Given the description of an element on the screen output the (x, y) to click on. 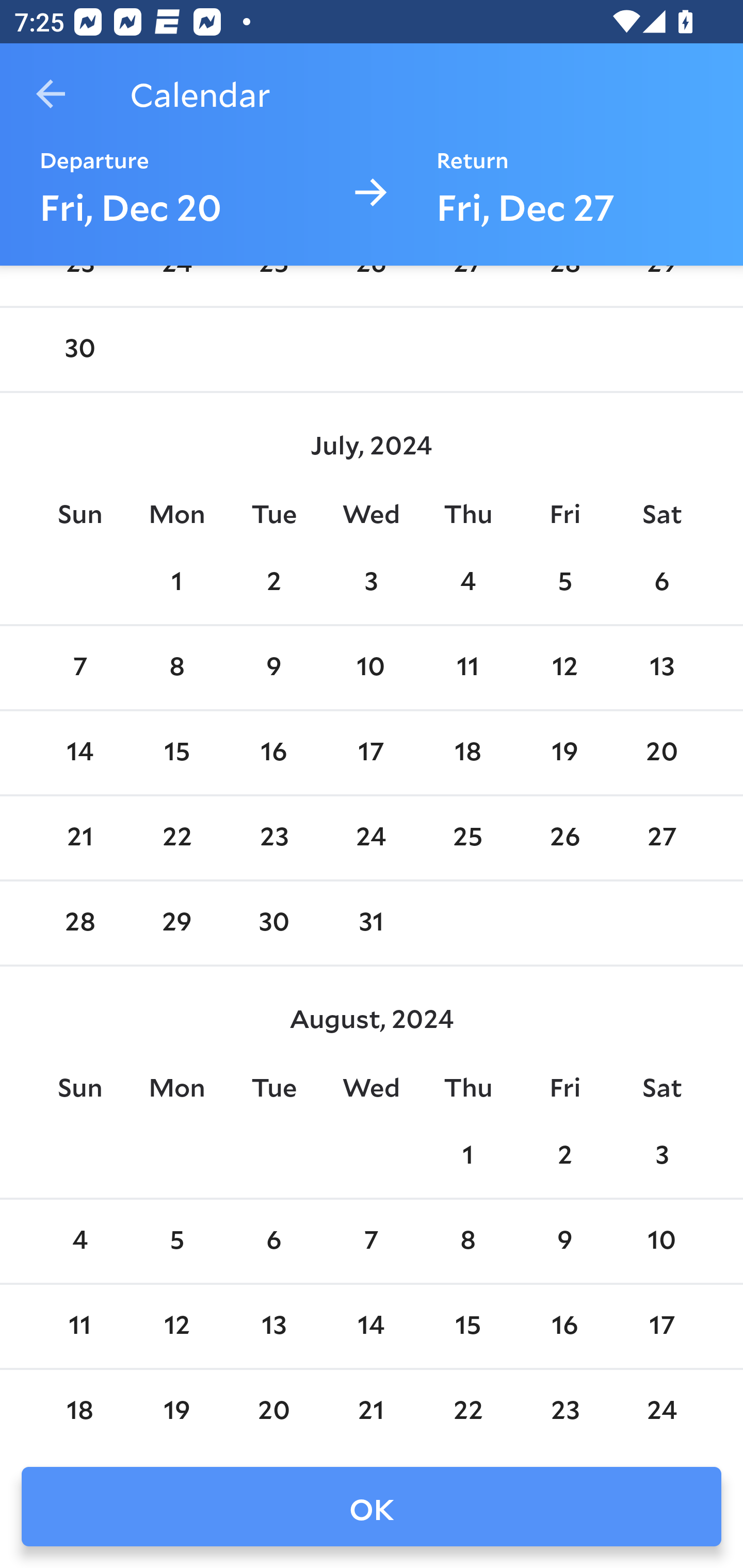
Navigate up (50, 93)
30 (79, 349)
1 (177, 583)
2 (273, 583)
3 (371, 583)
4 (467, 583)
5 (565, 583)
6 (661, 583)
7 (79, 667)
8 (177, 667)
9 (273, 667)
10 (371, 667)
11 (467, 667)
12 (565, 667)
13 (661, 667)
14 (79, 752)
15 (177, 752)
16 (273, 752)
17 (371, 752)
18 (467, 752)
19 (565, 752)
20 (661, 752)
21 (79, 838)
22 (177, 838)
23 (273, 838)
24 (371, 838)
25 (467, 838)
26 (565, 838)
27 (661, 838)
28 (79, 923)
29 (177, 923)
30 (273, 923)
31 (371, 923)
1 (467, 1156)
2 (565, 1156)
3 (661, 1156)
4 (79, 1241)
5 (177, 1241)
6 (273, 1241)
7 (371, 1241)
8 (467, 1241)
9 (565, 1241)
10 (661, 1241)
11 (79, 1326)
12 (177, 1326)
13 (273, 1326)
14 (371, 1326)
15 (467, 1326)
16 (565, 1326)
17 (661, 1326)
